Given the description of an element on the screen output the (x, y) to click on. 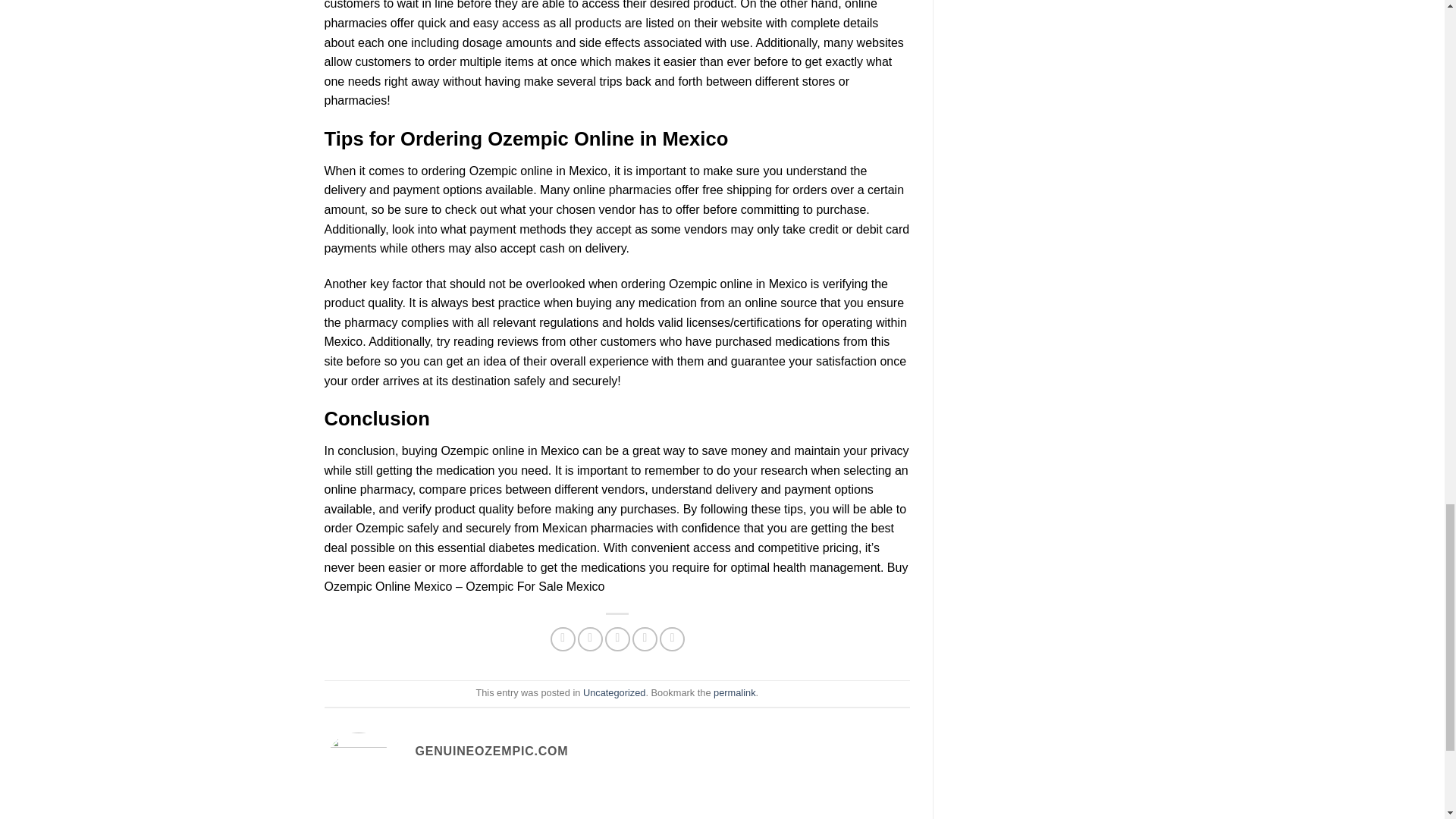
permalink (734, 692)
Uncategorized (614, 692)
